Given the description of an element on the screen output the (x, y) to click on. 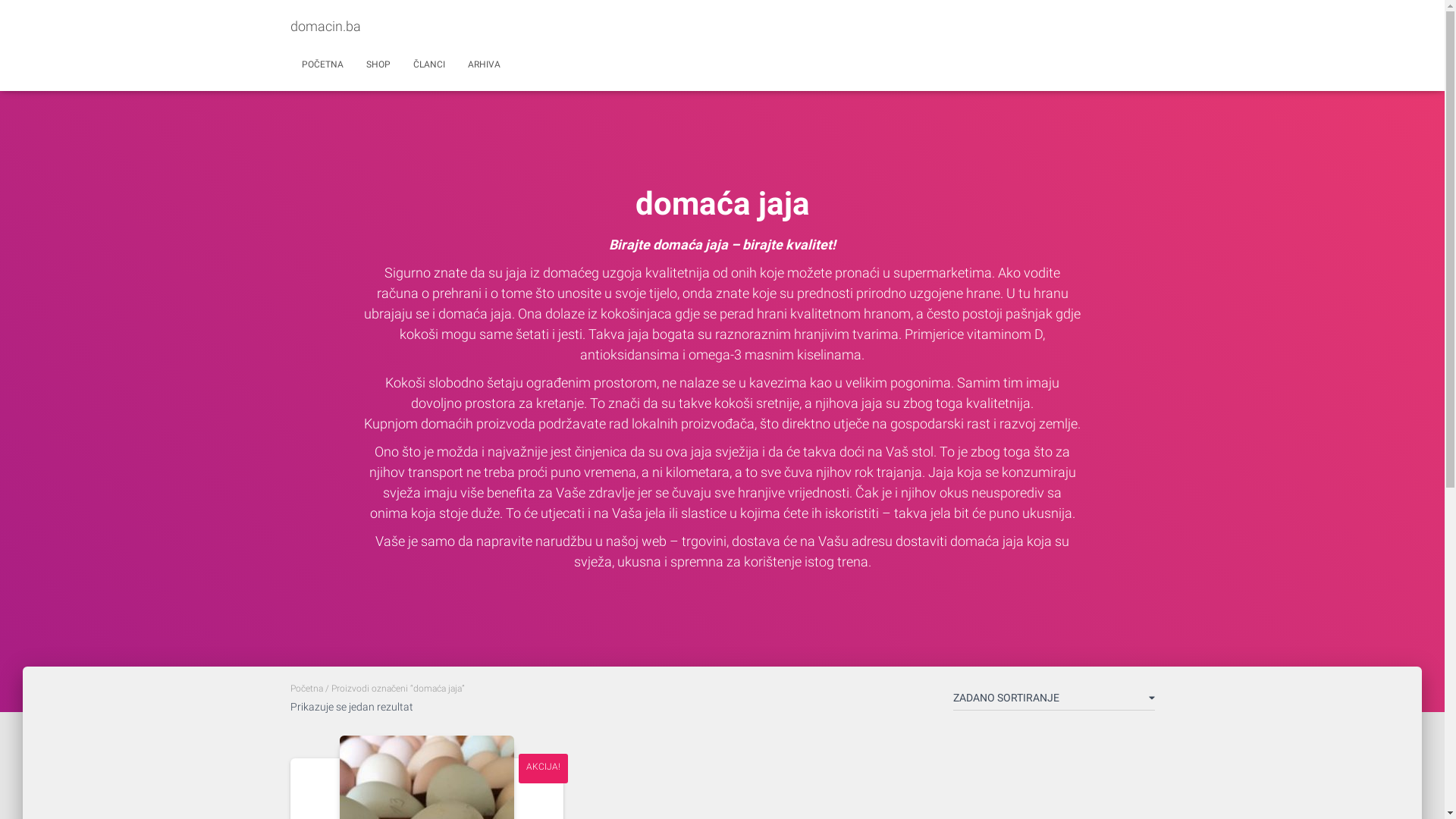
domacin.ba Element type: text (325, 26)
SHOP Element type: text (377, 64)
ARHIVA Element type: text (483, 64)
